Given the description of an element on the screen output the (x, y) to click on. 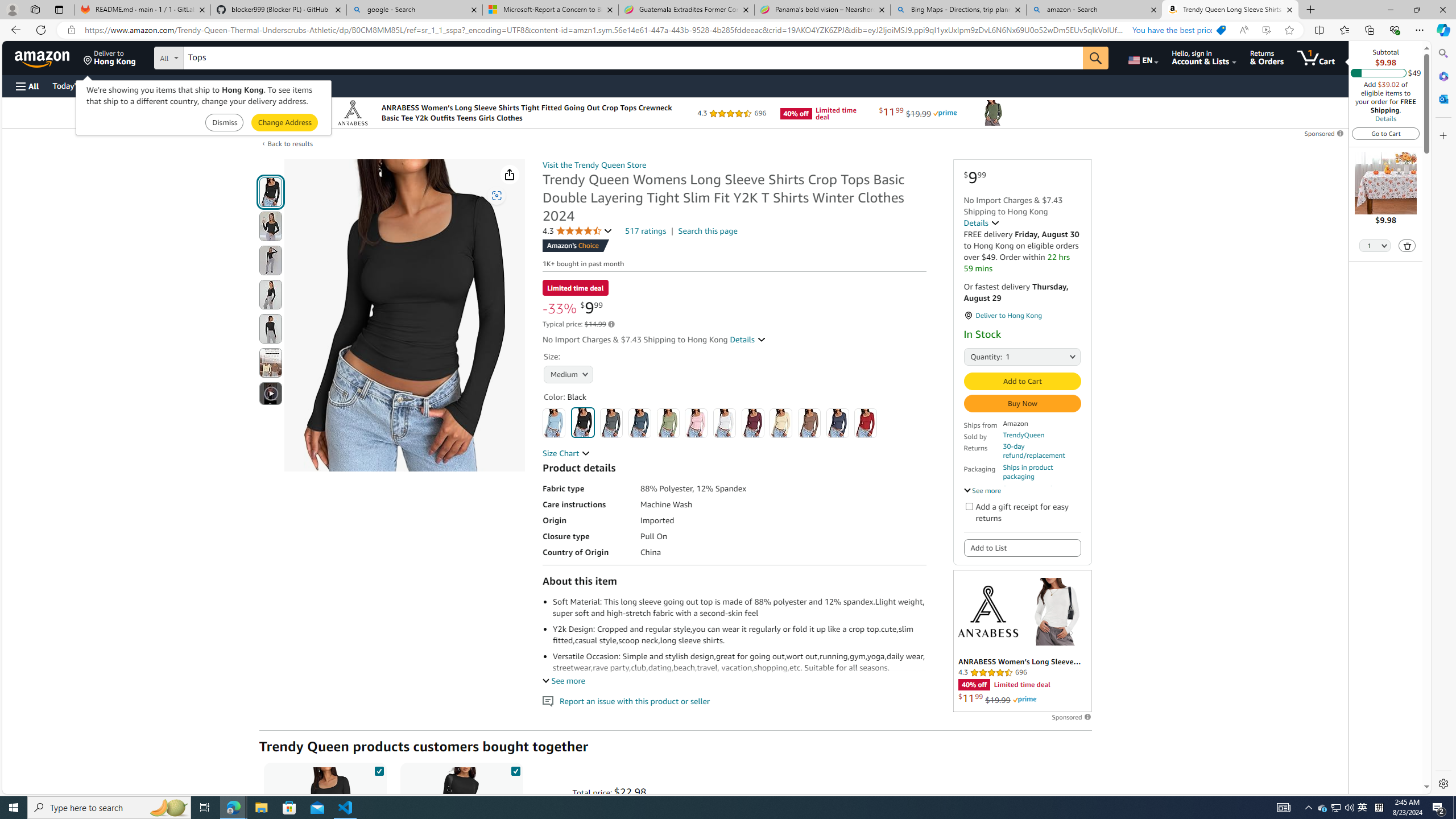
Pink (696, 422)
Coffee Grey (809, 422)
Add a gift receipt for easy returns (968, 506)
Logo (987, 611)
Learn more about Amazon pricing and savings (610, 324)
